Given the description of an element on the screen output the (x, y) to click on. 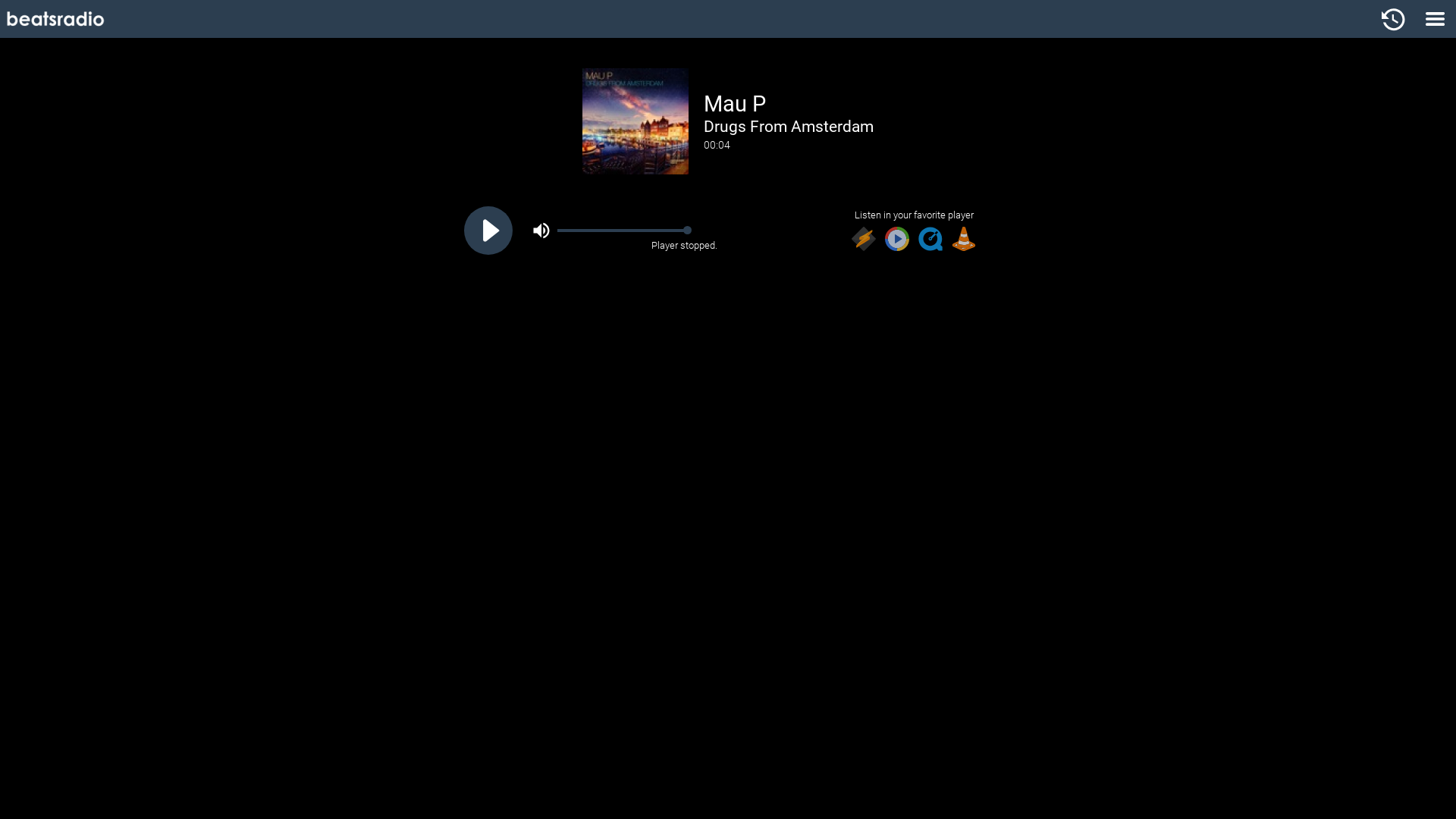
Start playing Element type: hover (488, 231)
VLC Player Element type: hover (963, 239)
Drag to change volume Element type: hover (686, 229)
Mau P Element type: text (734, 103)
Windows Media Player Element type: hover (896, 239)
Show Track History Element type: hover (1393, 18)
QuickTime Element type: hover (930, 239)
Drugs From Amsterdam Element type: text (788, 125)
Winamp Element type: hover (863, 239)
